Given the description of an element on the screen output the (x, y) to click on. 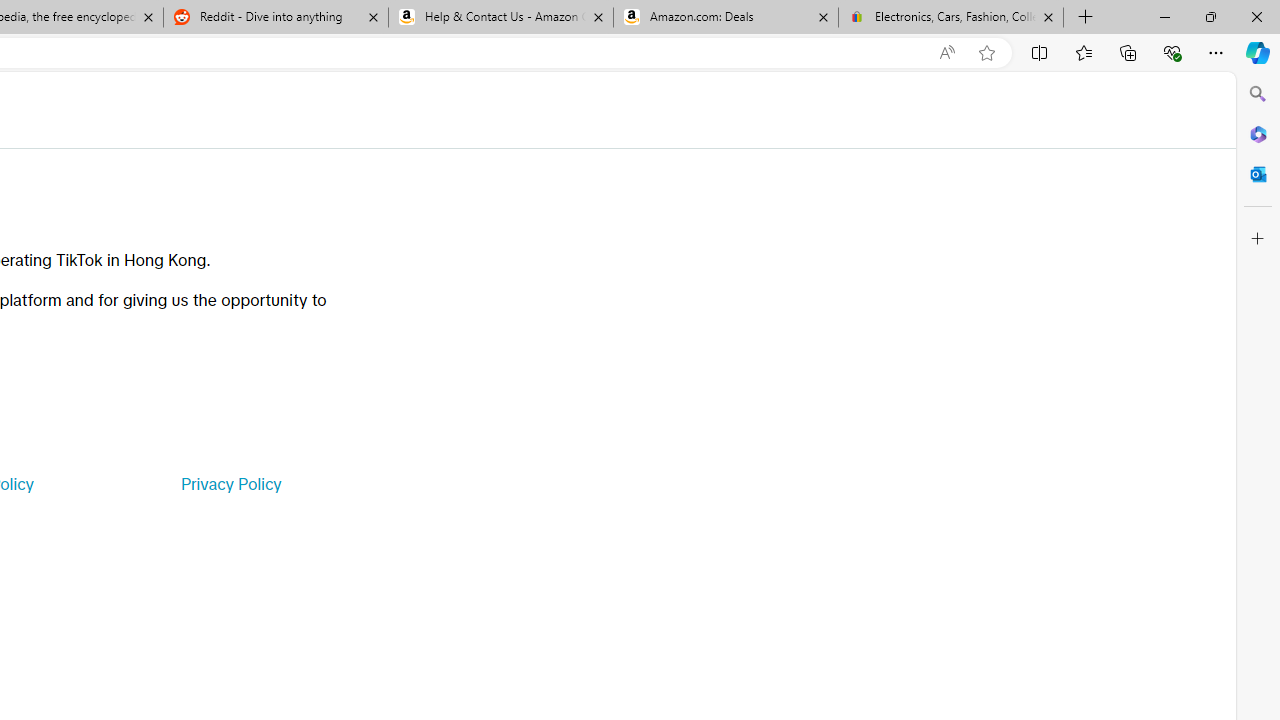
Help & Contact Us - Amazon Customer Service (501, 17)
